Given the description of an element on the screen output the (x, y) to click on. 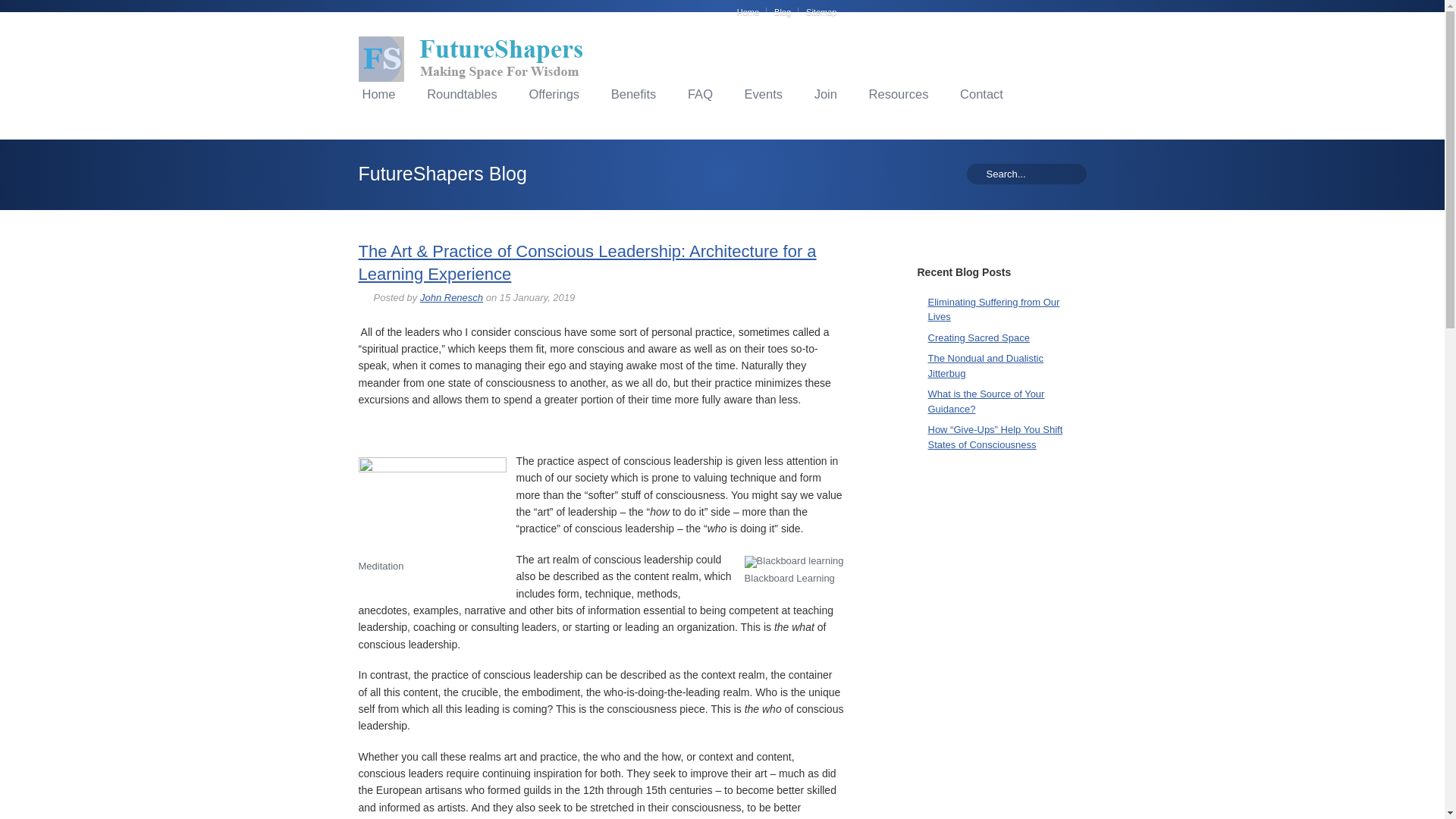
Home (378, 94)
Join (825, 94)
Resources (898, 94)
Creating Sacred Space (978, 337)
Posts by John Renesch (451, 296)
Search... (1024, 173)
Events (763, 94)
Join FutureShapers Roundtables (825, 94)
FutureShapers Home (378, 94)
Home (751, 11)
